Given the description of an element on the screen output the (x, y) to click on. 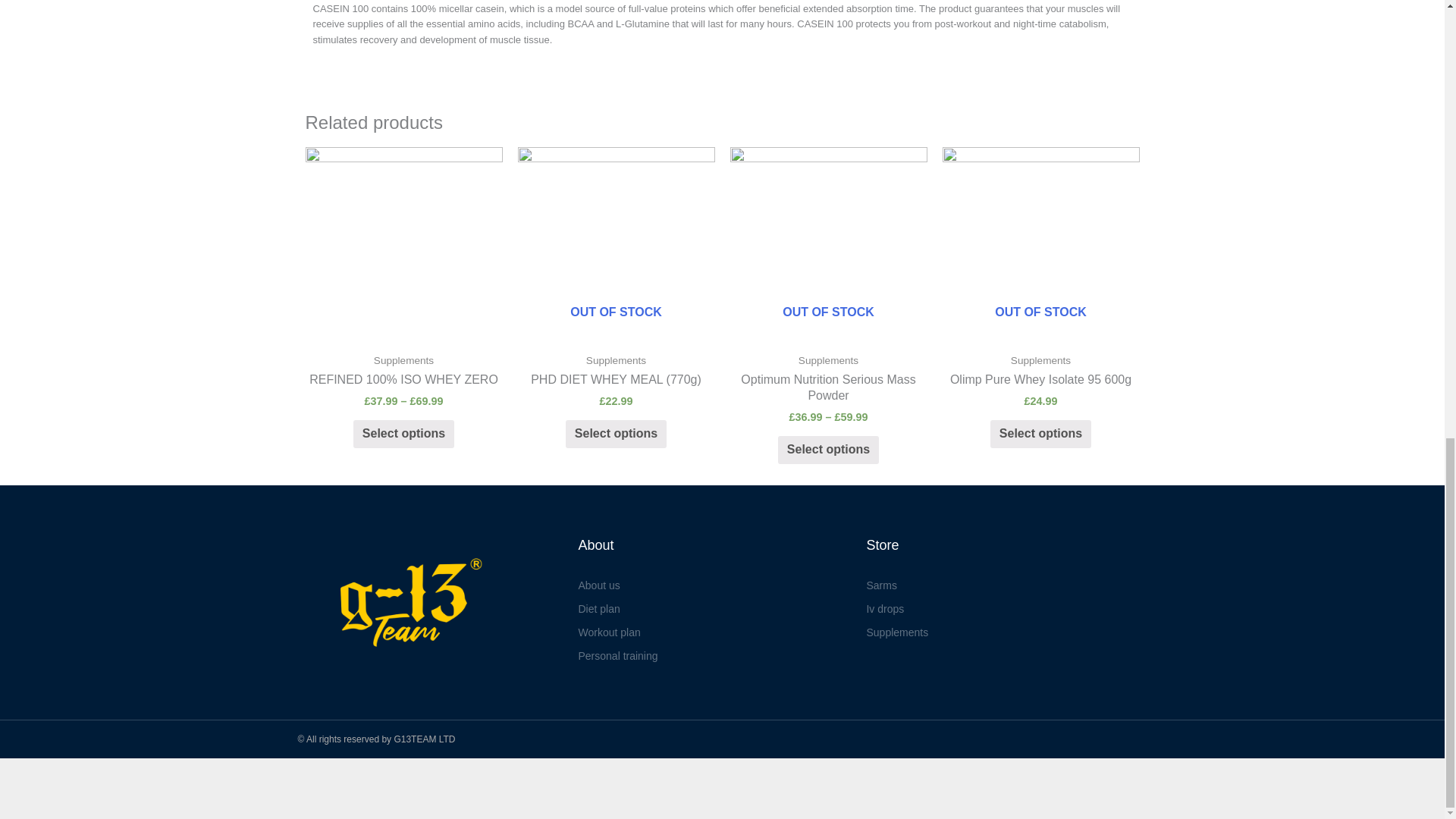
Select options (403, 433)
OUT OF STOCK (615, 245)
